Given the description of an element on the screen output the (x, y) to click on. 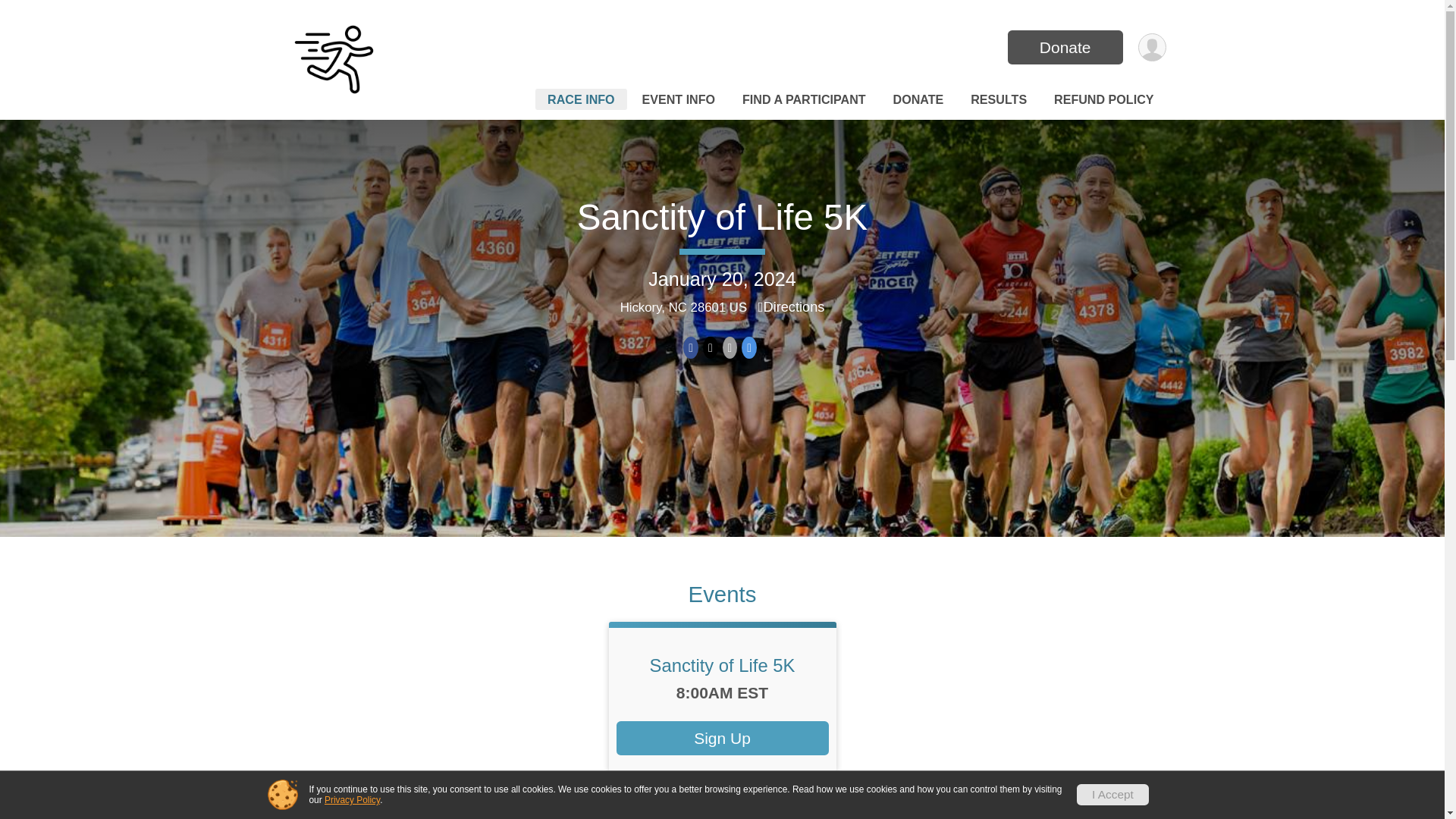
REFUND POLICY (1103, 98)
RACE INFO (581, 98)
Sign Up (721, 738)
Directions (791, 306)
Sanctity of Life 5K (721, 665)
Donate (1064, 47)
RESULTS (997, 98)
FIND A PARTICIPANT (804, 98)
Sanctity of Life 5K (721, 217)
EVENT INFO (677, 98)
